Given the description of an element on the screen output the (x, y) to click on. 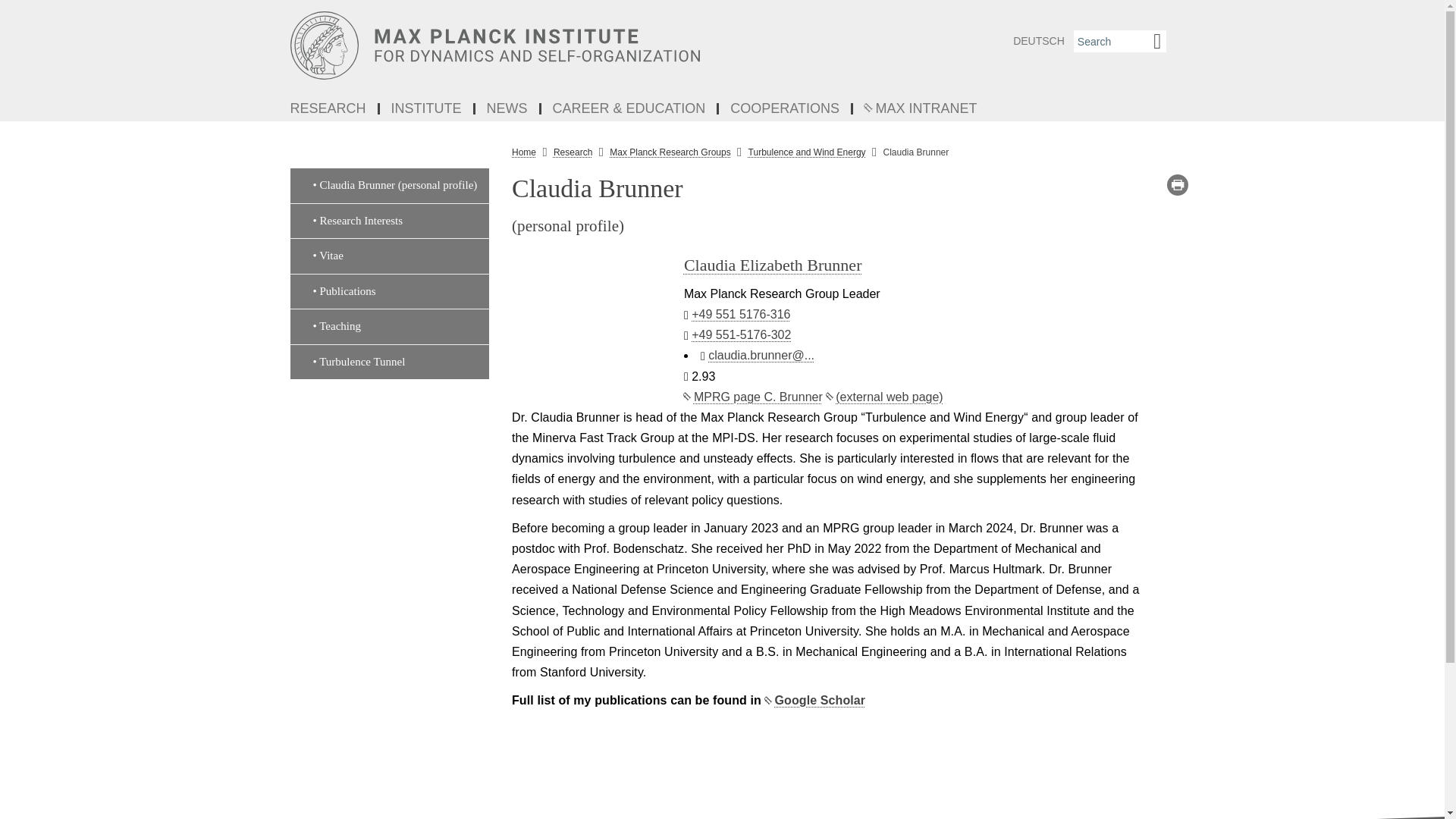
More information about Claudia Elizabeth Brunner (772, 264)
Print (1177, 184)
RESEARCH (329, 108)
NEWS (508, 108)
INSTITUTE (428, 108)
DEUTSCH (1038, 41)
